Given the description of an element on the screen output the (x, y) to click on. 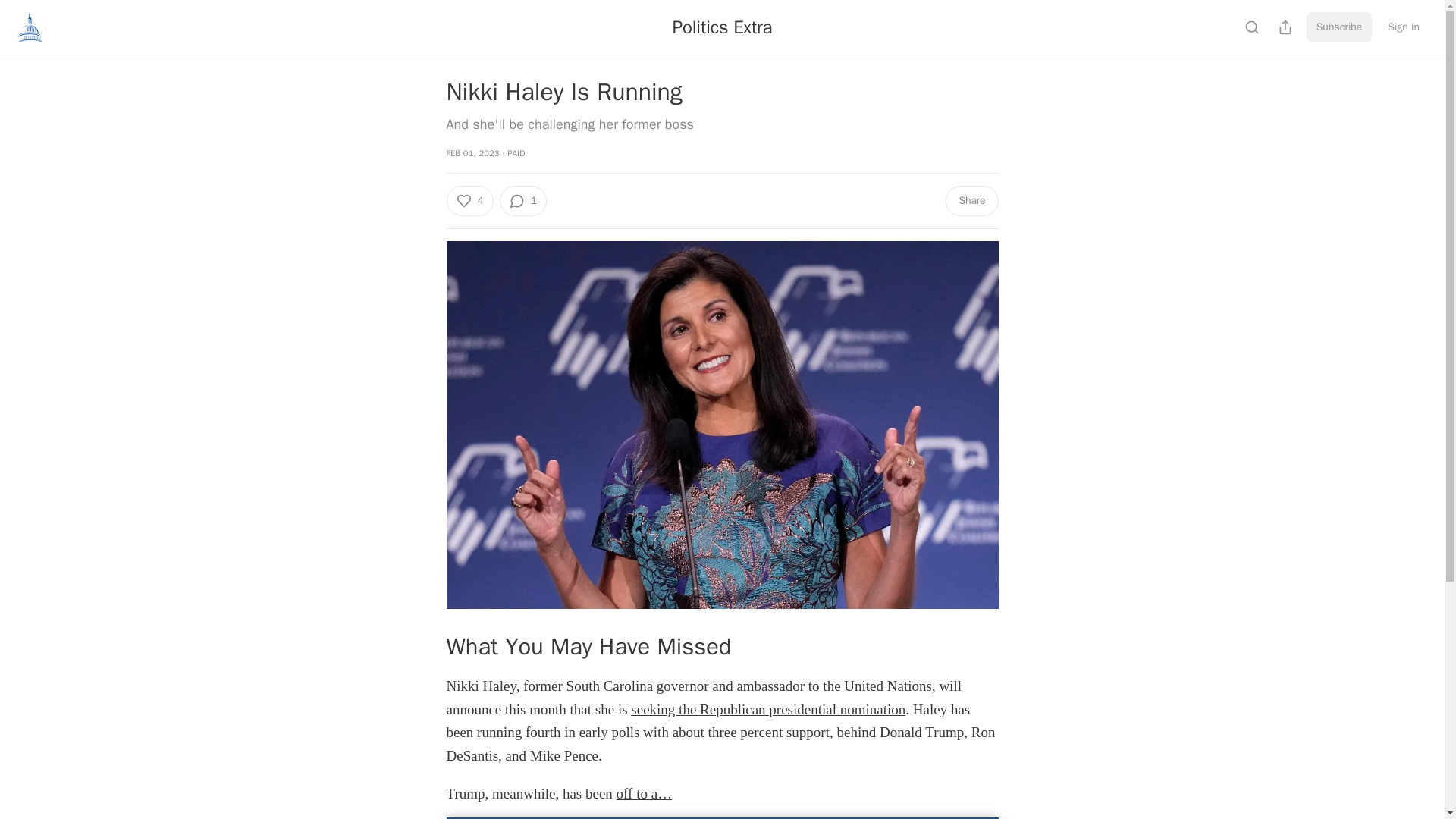
4 (469, 200)
seeking the Republican presidential nomination (767, 709)
1 (523, 200)
Sign in (1403, 27)
Subscribe (1339, 27)
Share (970, 200)
Politics Extra (721, 26)
